Given the description of an element on the screen output the (x, y) to click on. 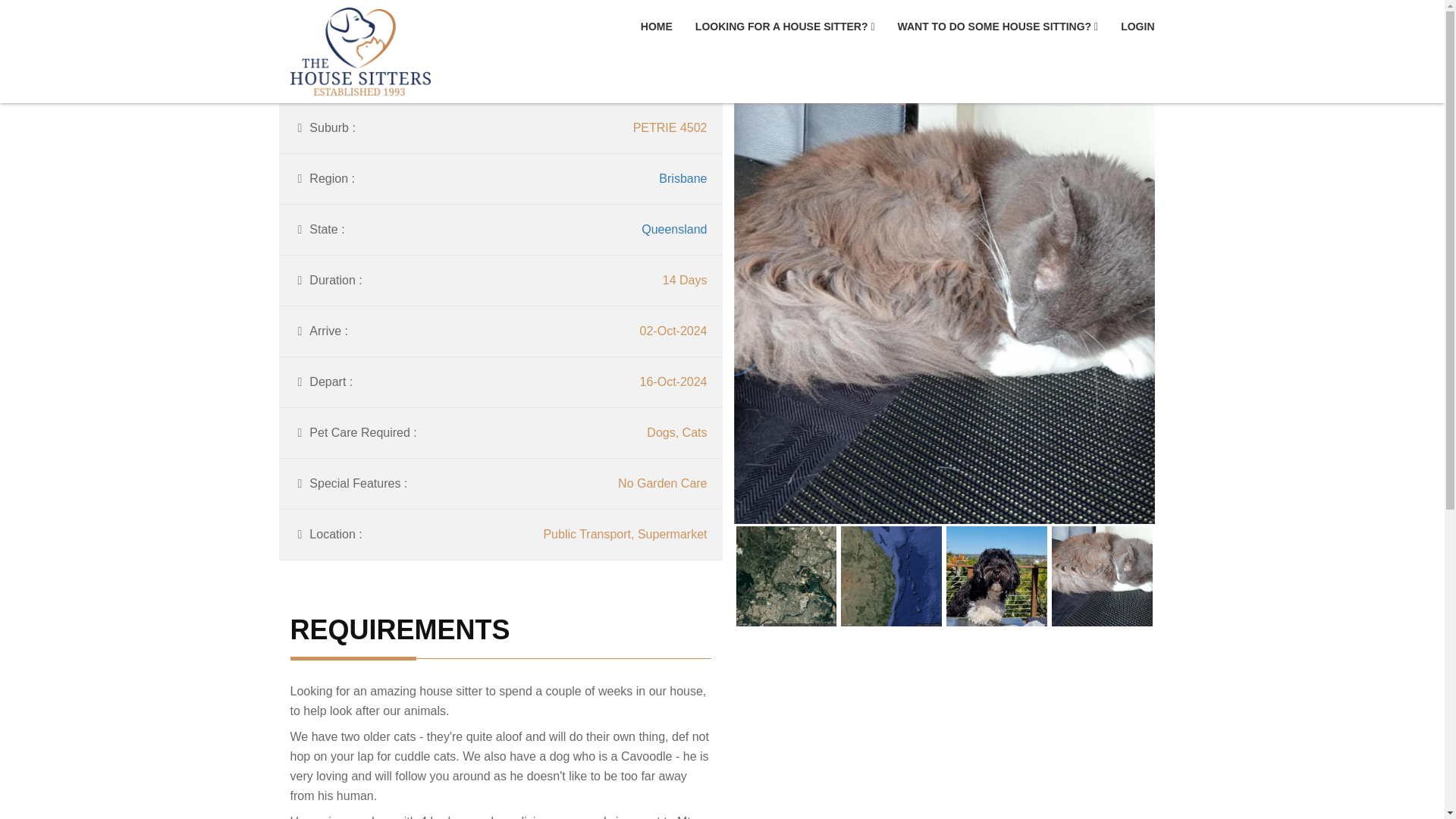
LOGIN (1137, 26)
LOOKING FOR A HOUSE SITTER? (785, 26)
HOME (656, 26)
Brisbane (682, 178)
Queensland (674, 228)
WANT TO DO SOME HOUSE SITTING? (998, 26)
